Given the description of an element on the screen output the (x, y) to click on. 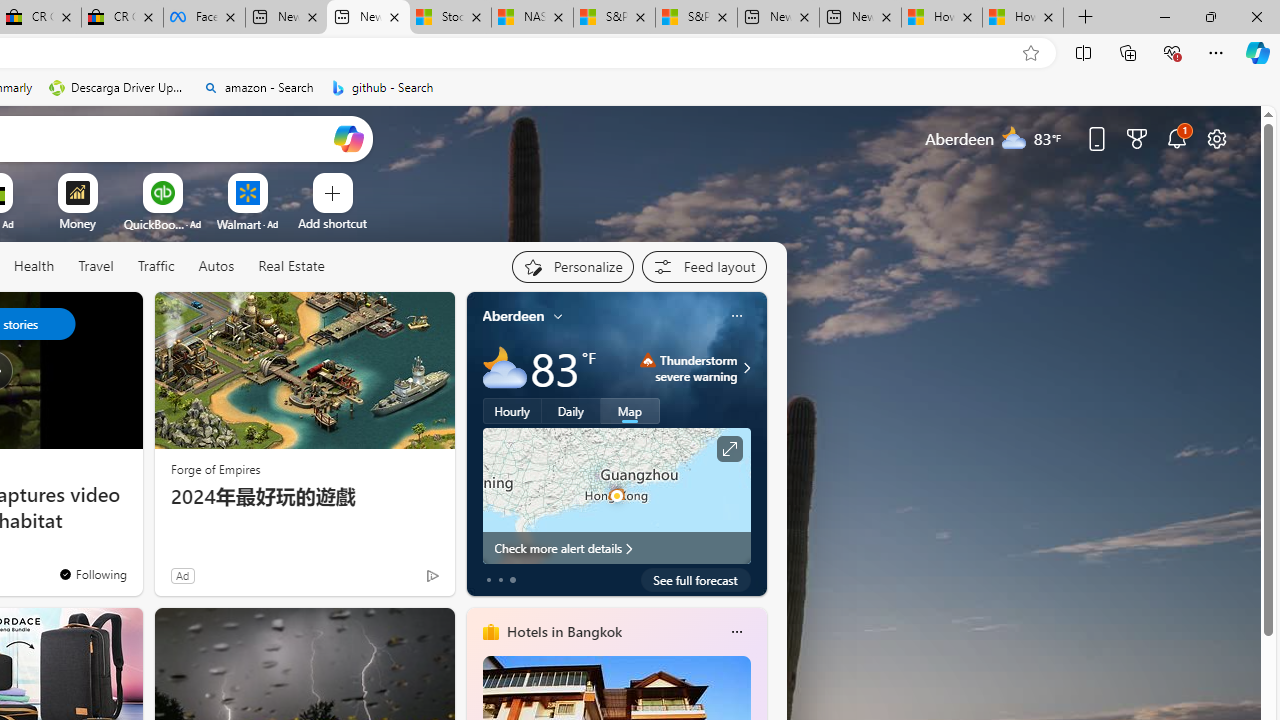
Thunderstorm - Severe (648, 359)
Microsoft rewards (1137, 138)
tab-2 (511, 579)
Money (77, 223)
Feed settings (703, 266)
Check more alert details (616, 547)
Larger map  (616, 495)
Mostly cloudy (504, 368)
Hotels in Bangkok (563, 631)
